Given the description of an element on the screen output the (x, y) to click on. 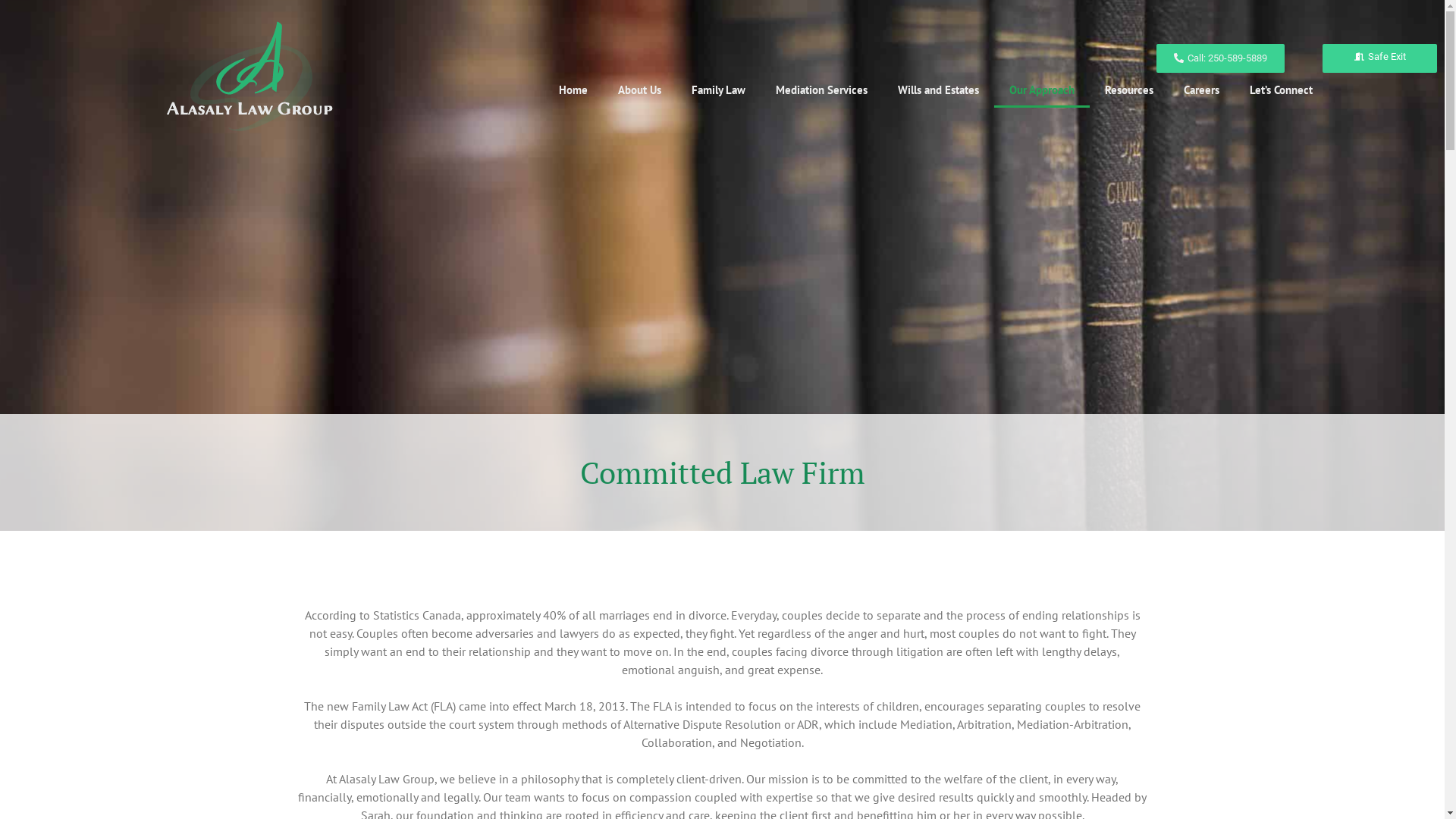
Resources Element type: text (1128, 89)
Safe Exit Element type: text (1379, 57)
Mediation Services Element type: text (821, 89)
Wills and Estates Element type: text (938, 89)
Call: 250-589-5889 Element type: text (1220, 57)
Careers Element type: text (1201, 89)
Our Approach Element type: text (1041, 89)
Family Law Element type: text (718, 89)
About Us Element type: text (639, 89)
Home Element type: text (572, 89)
